Given the description of an element on the screen output the (x, y) to click on. 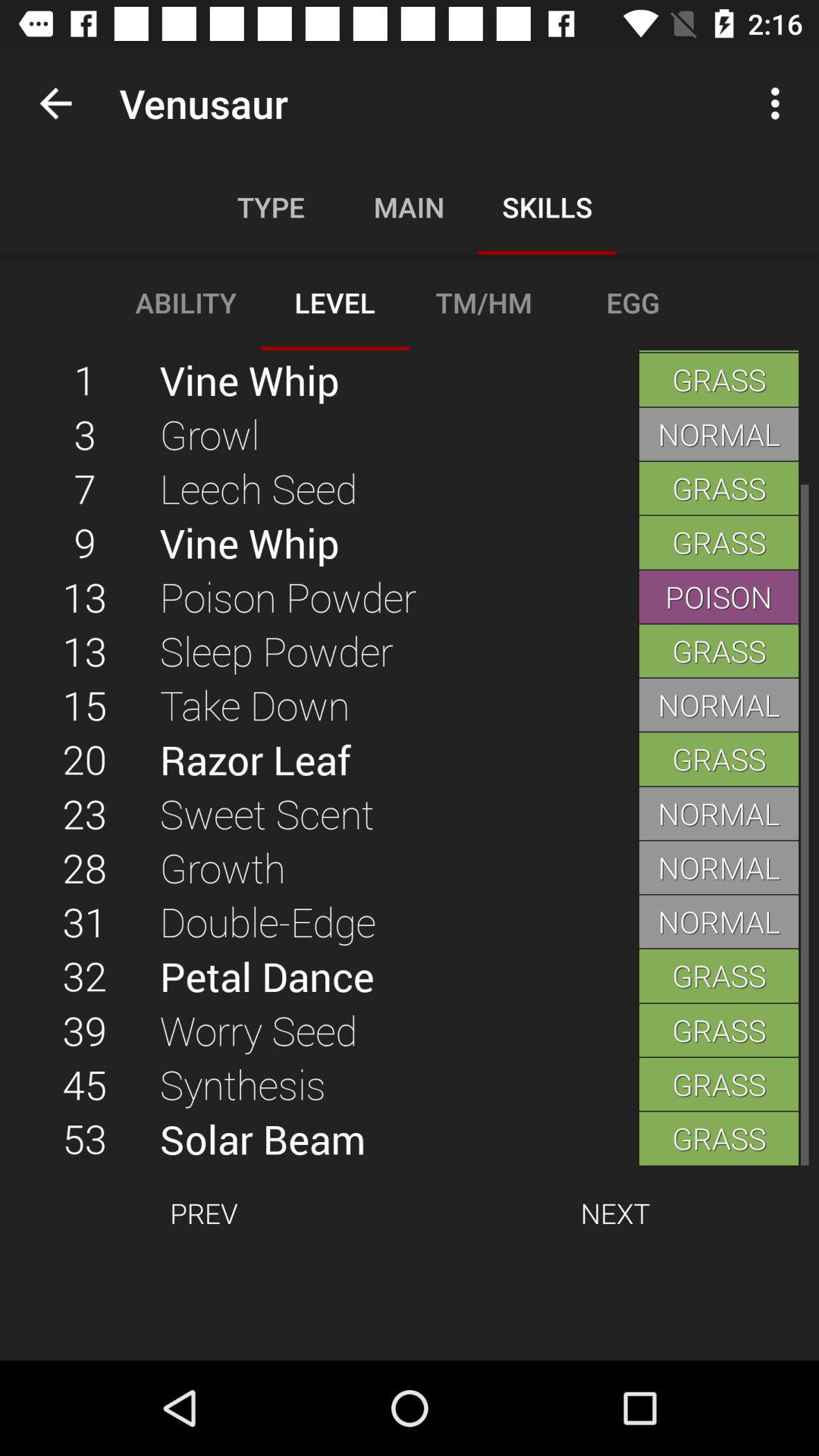
turn off the app to the left of venusaur app (55, 103)
